Given the description of an element on the screen output the (x, y) to click on. 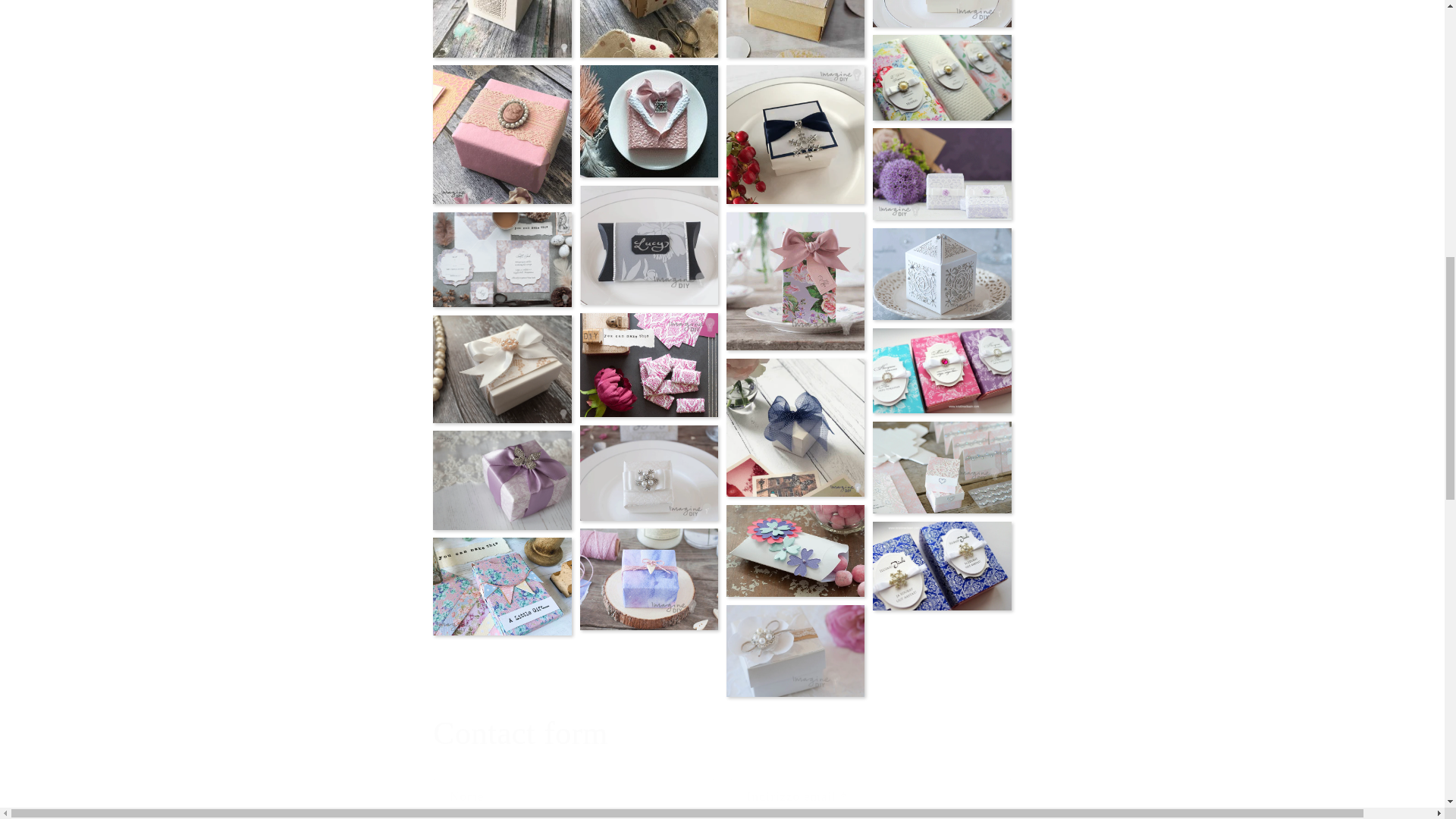
Contact form (721, 733)
